Given the description of an element on the screen output the (x, y) to click on. 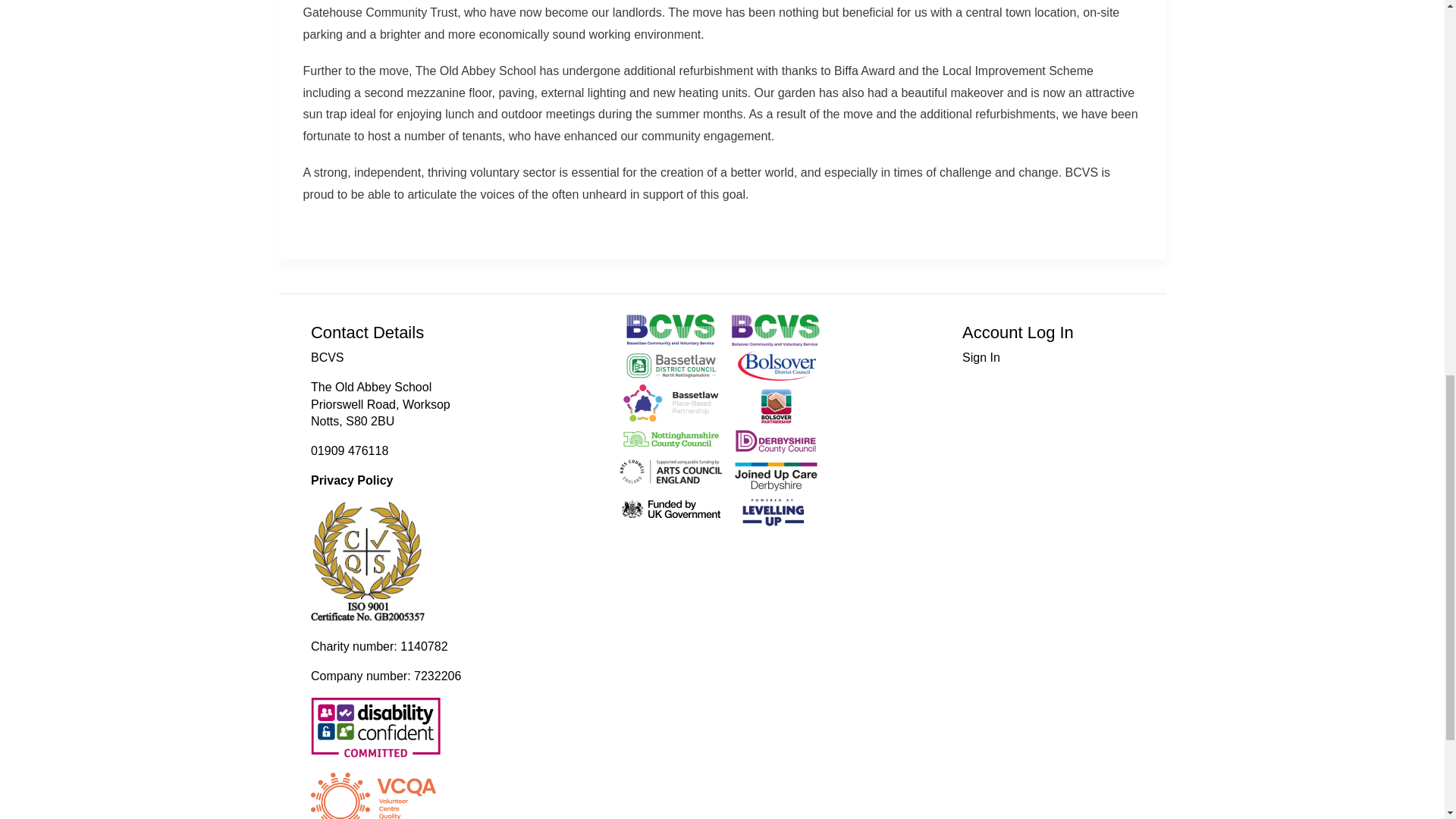
Sign In (981, 357)
Privacy Policy (352, 480)
